Given the description of an element on the screen output the (x, y) to click on. 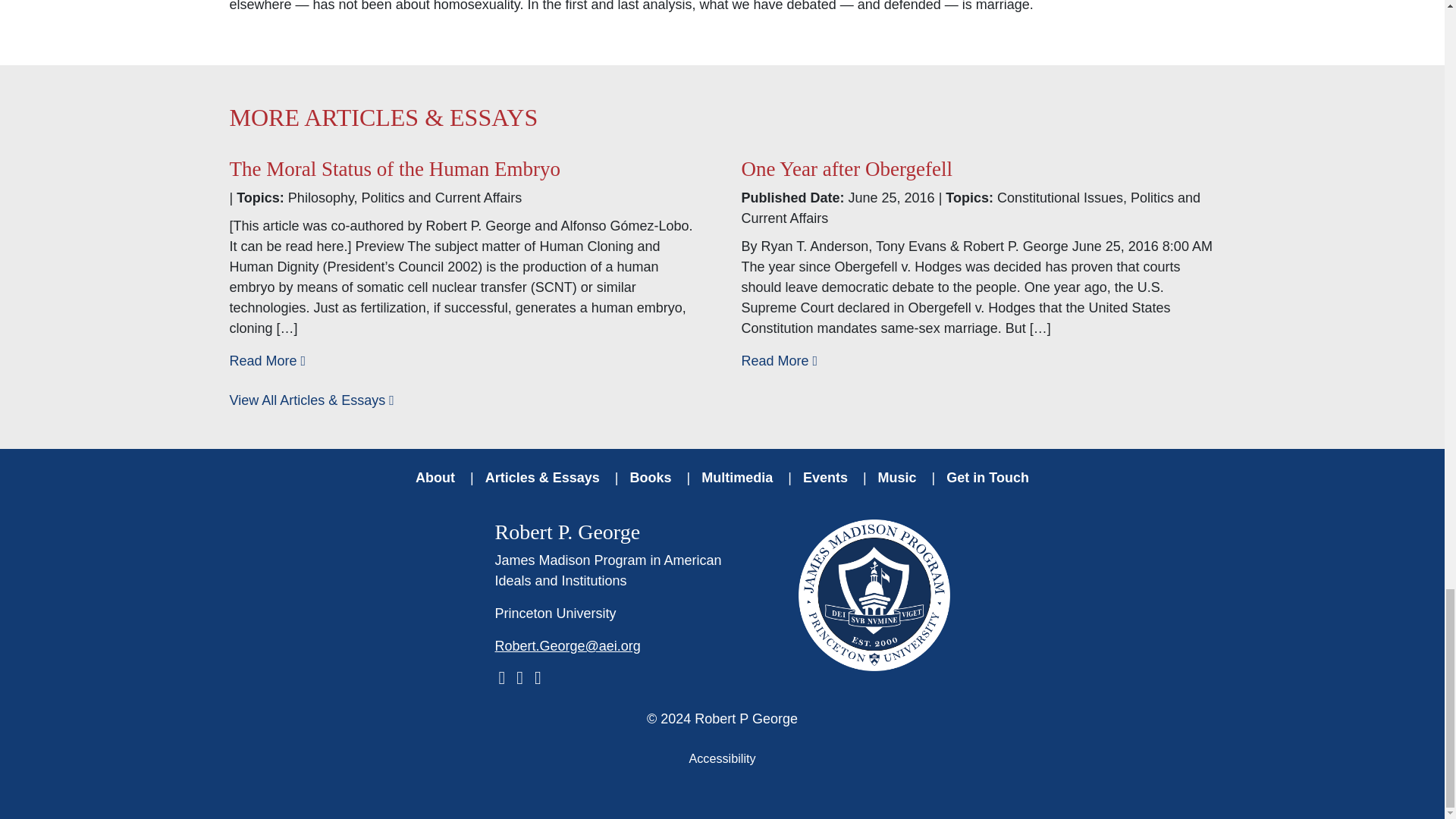
Read More (266, 360)
One Year after Obergefell (846, 169)
Books (650, 477)
Events (825, 477)
Get in Touch (987, 477)
The Moral Status of the Human Embryo (393, 169)
Music (897, 477)
Read More (779, 360)
Multimedia (736, 477)
About (435, 477)
